Given the description of an element on the screen output the (x, y) to click on. 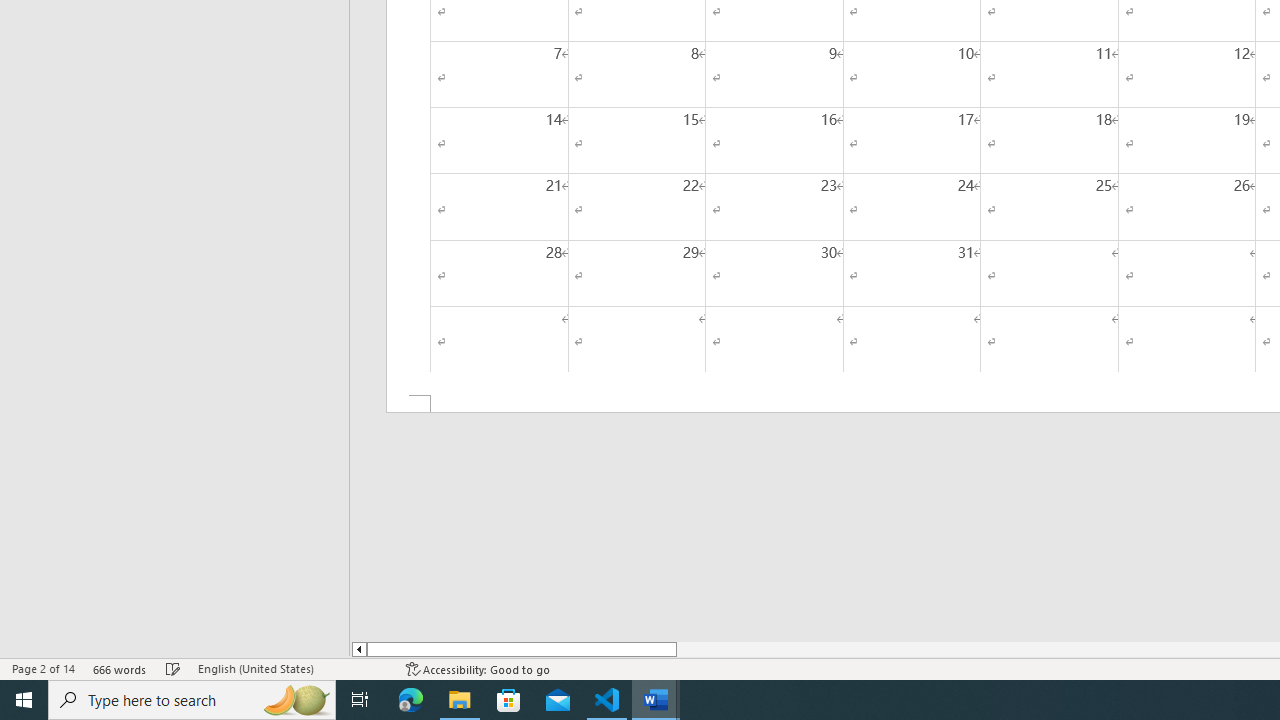
Page Number Page 2 of 14 (43, 668)
Language English (United States) (292, 668)
Word Count 666 words (119, 668)
Accessibility Checker Accessibility: Good to go (478, 668)
Column left (358, 649)
Spelling and Grammar Check Checking (173, 668)
